Given the description of an element on the screen output the (x, y) to click on. 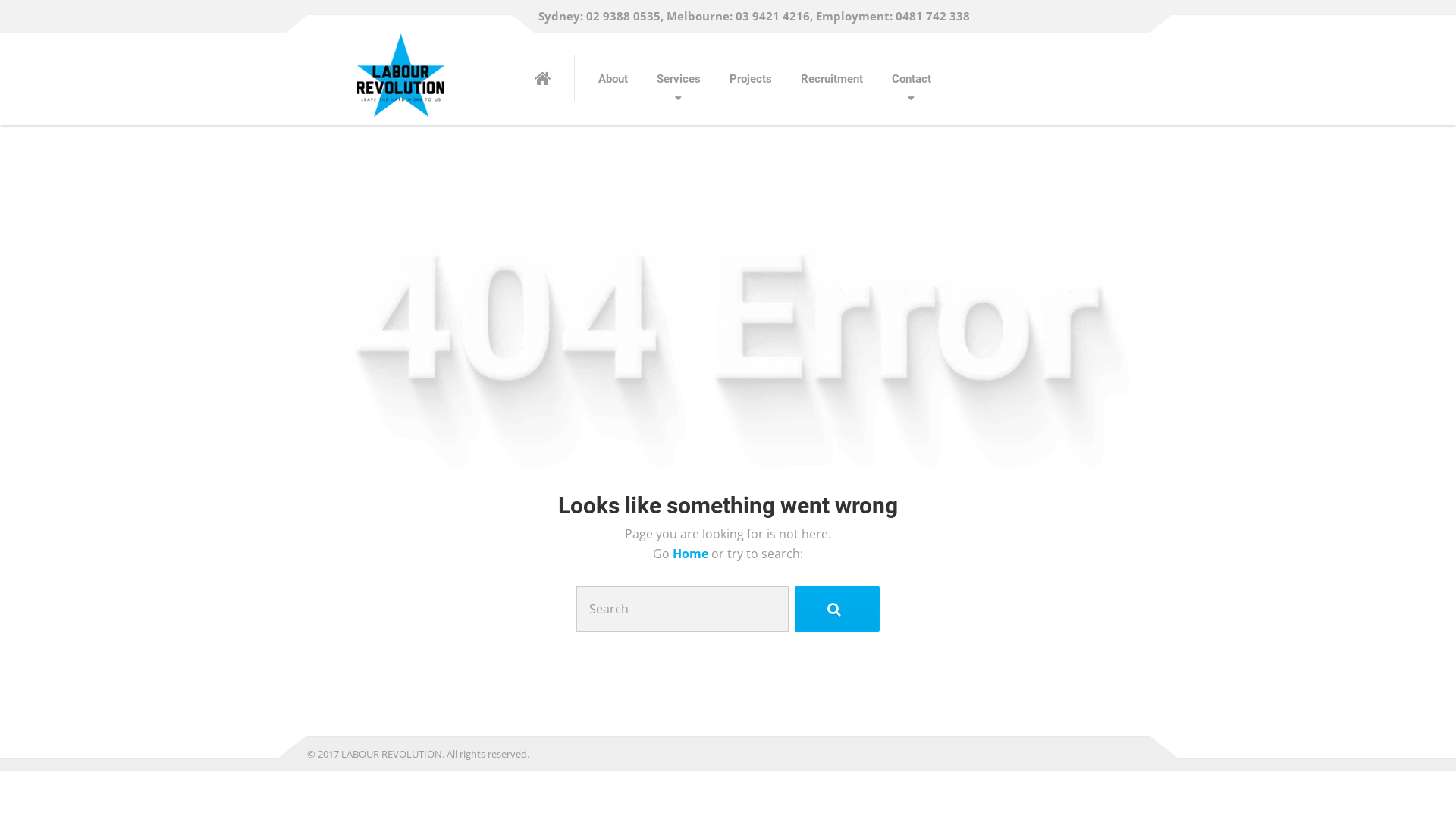
About Element type: text (612, 78)
Projects Element type: text (750, 78)
Contact Element type: text (911, 78)
Services Element type: text (678, 78)
Home Element type: text (691, 553)
Recruitment Element type: text (831, 78)
